Given the description of an element on the screen output the (x, y) to click on. 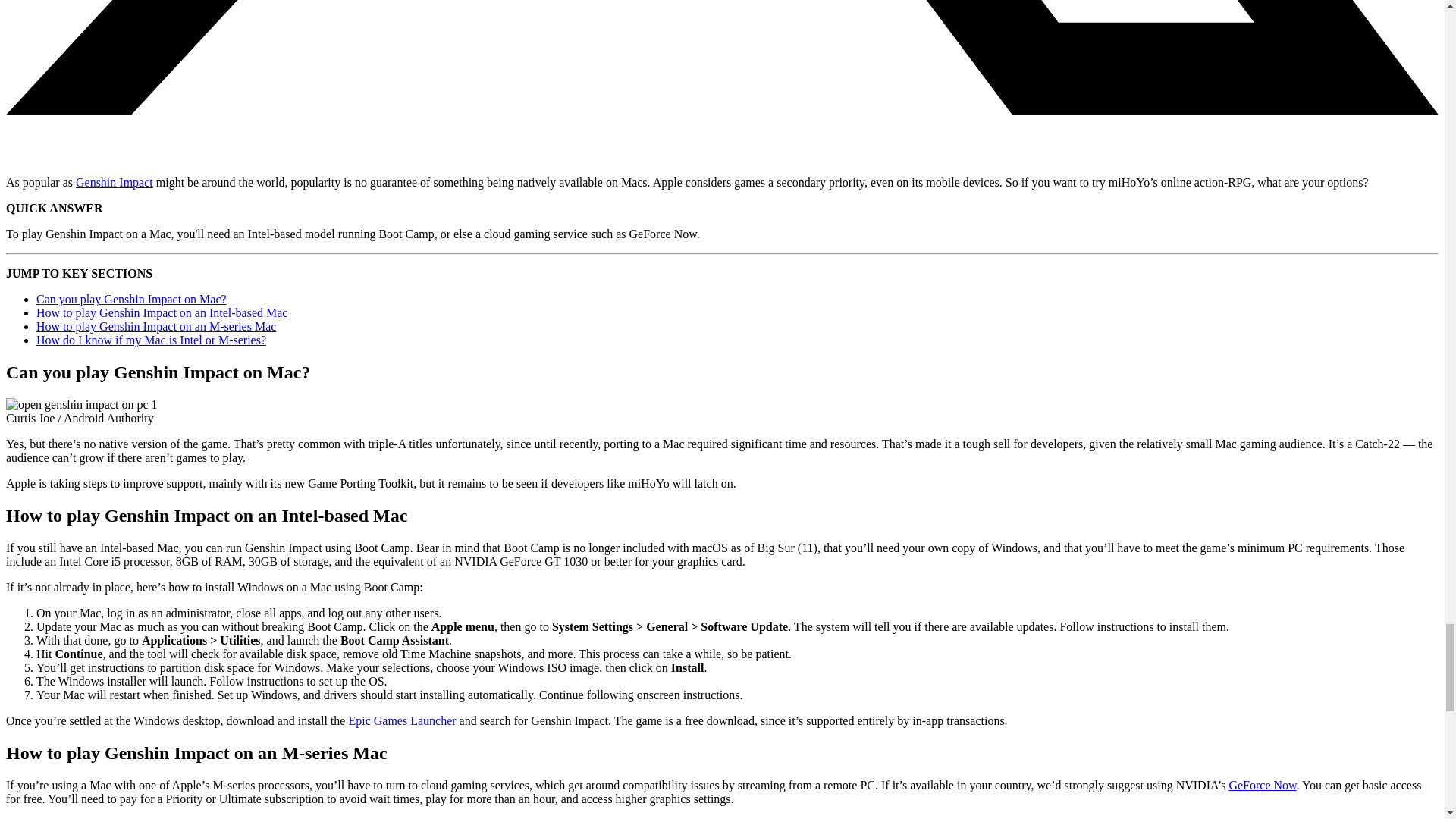
Epic Games Launcher (401, 720)
GeForce Now (1261, 784)
How do I know if my Mac is Intel or M-series? (151, 339)
Can you play Genshin Impact on Mac? (131, 298)
Genshin Impact (113, 182)
open genshin impact on pc 1 (81, 404)
How to play Genshin Impact on an Intel-based Mac (161, 312)
How to play Genshin Impact on an M-series Mac (156, 326)
